Given the description of an element on the screen output the (x, y) to click on. 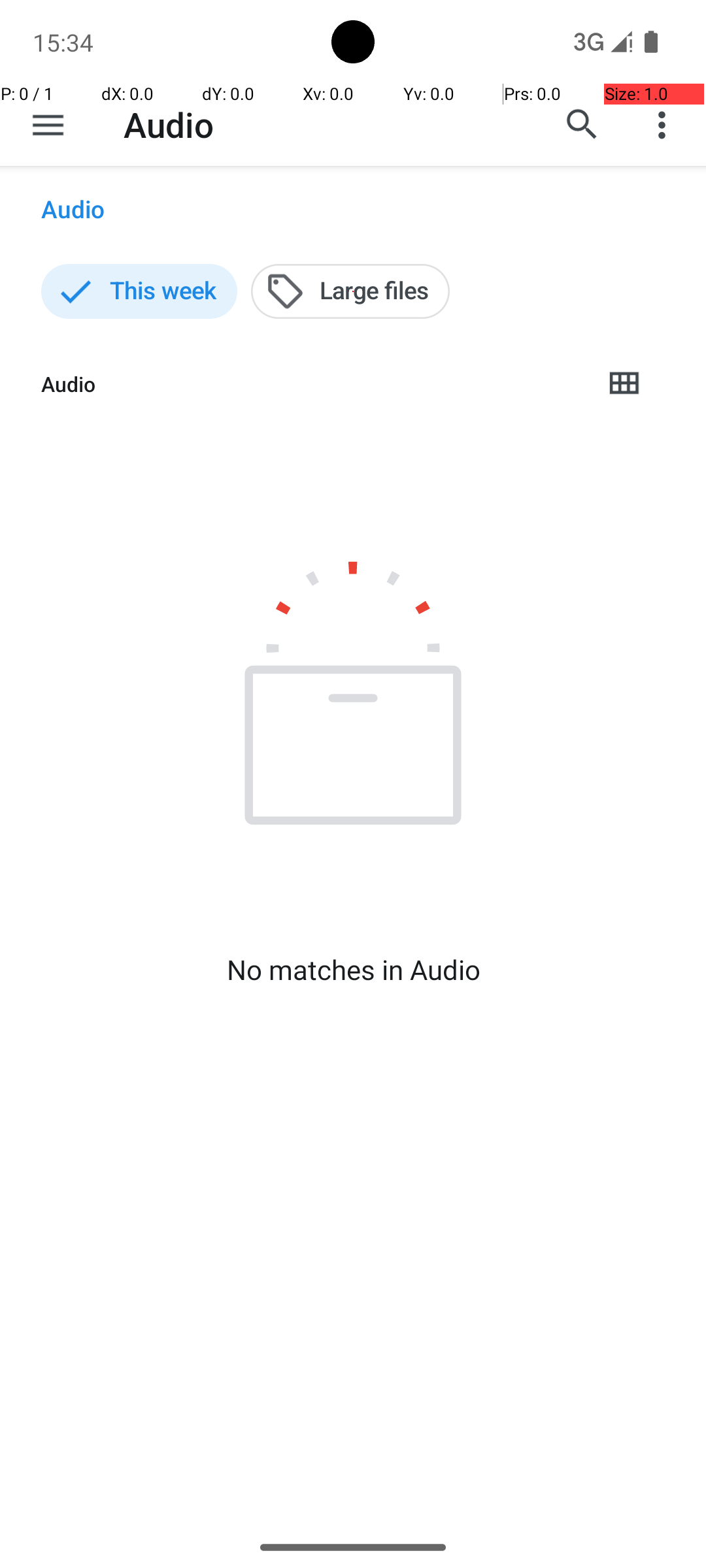
Grid view Element type: android.widget.TextView (622, 384)
This week Element type: android.widget.CompoundButton (139, 291)
Large files Element type: android.widget.CompoundButton (350, 291)
No matches in Audio Element type: android.widget.TextView (353, 968)
